Given the description of an element on the screen output the (x, y) to click on. 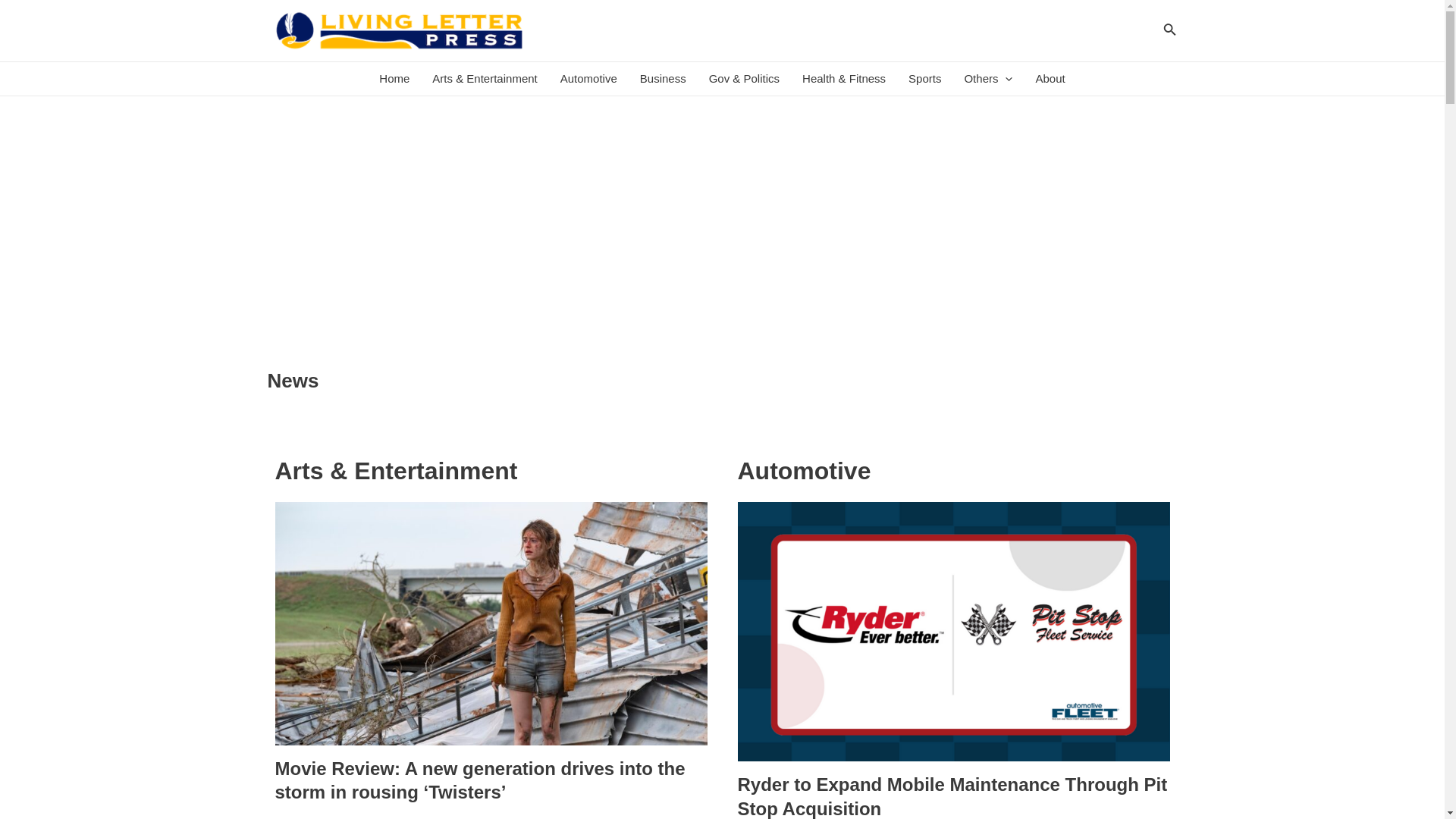
Sports (924, 78)
About (1049, 78)
Others (987, 78)
Business (662, 78)
Home (394, 78)
Automotive (588, 78)
